Given the description of an element on the screen output the (x, y) to click on. 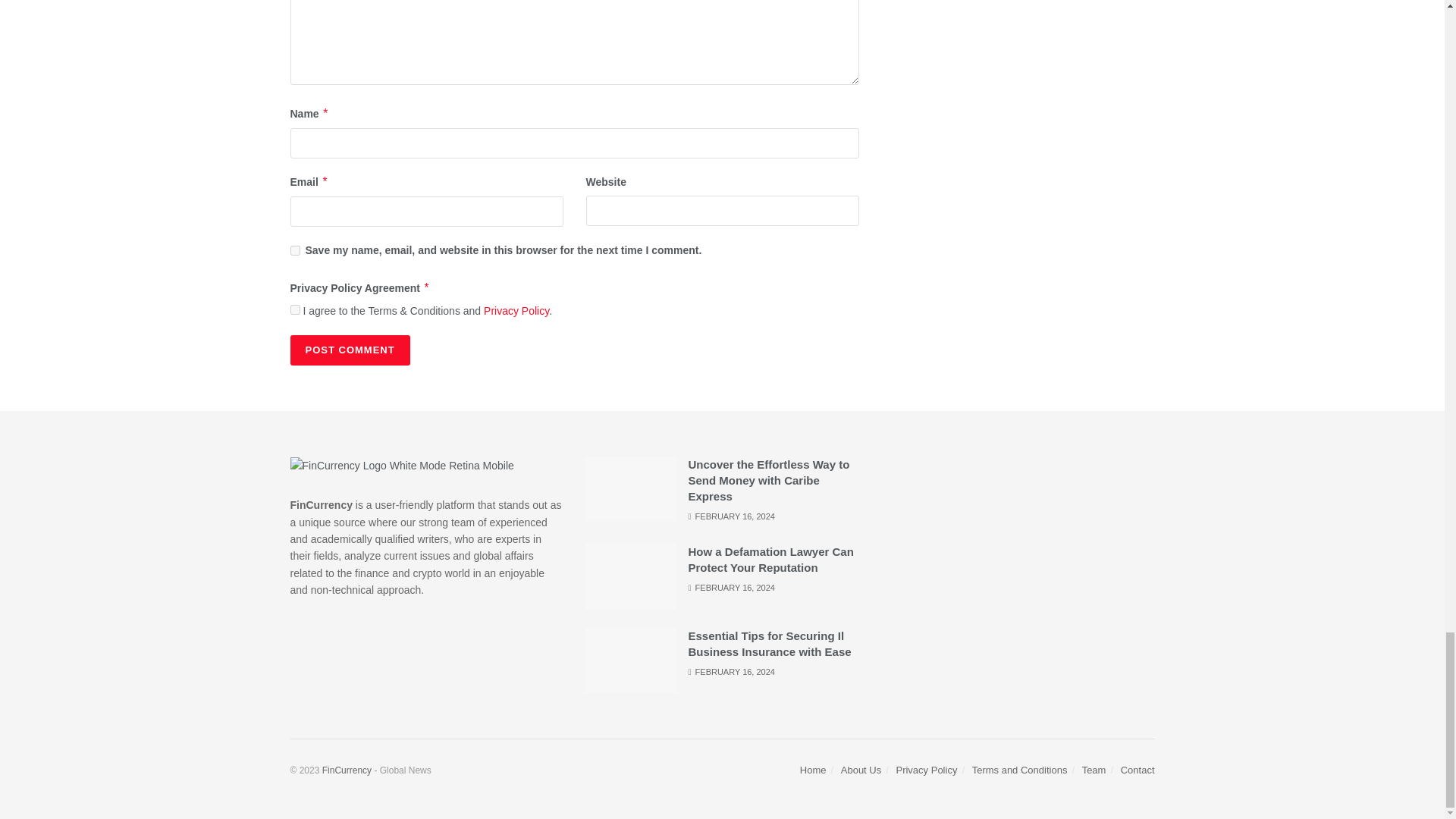
on (294, 309)
yes (294, 250)
Post Comment (349, 349)
FinCurrency Logo White Mode Retina Mobile - FinCurrency (401, 465)
